Given the description of an element on the screen output the (x, y) to click on. 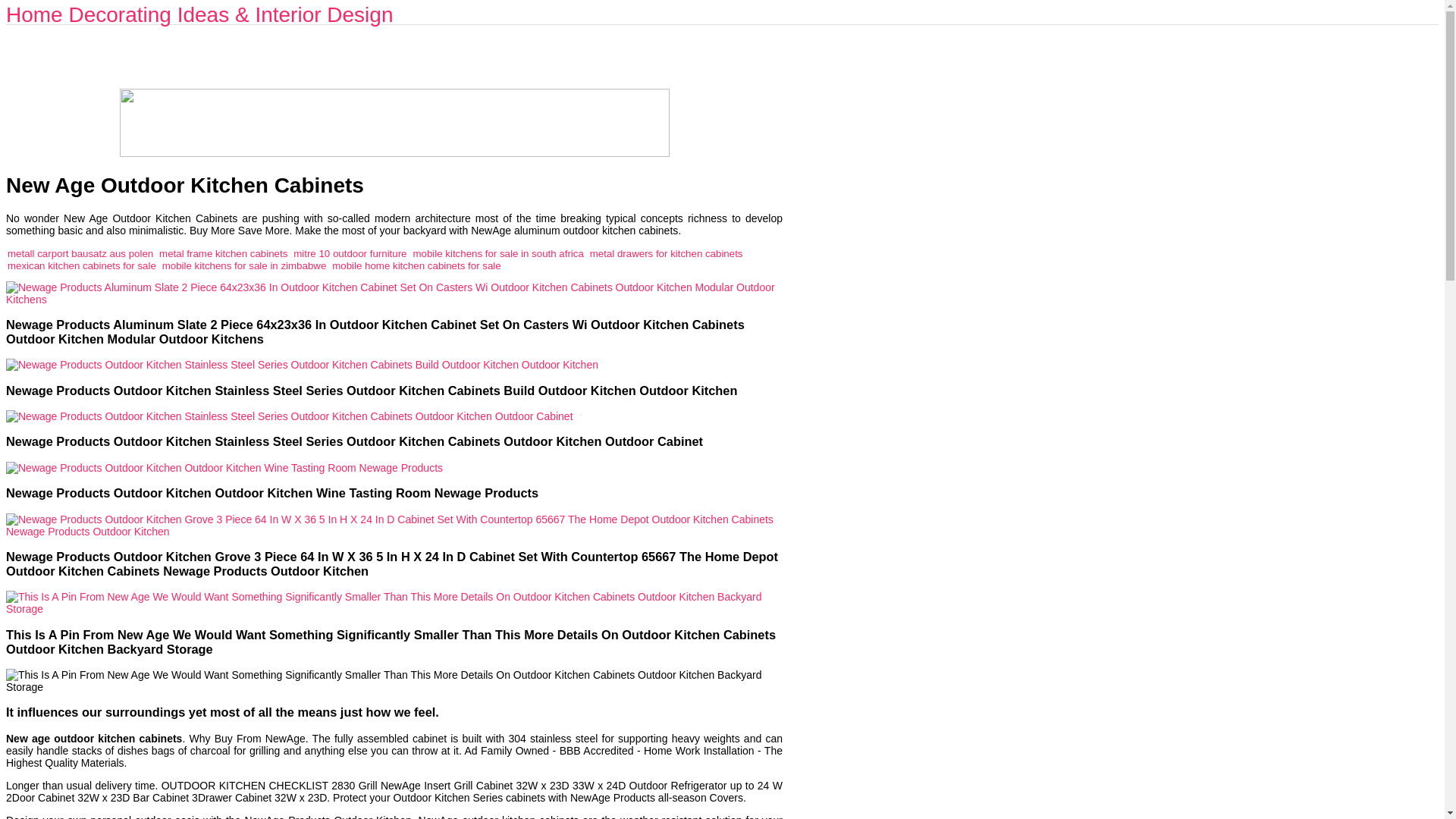
metal drawers for kitchen cabinets (665, 252)
mobile kitchens for sale in zimbabwe (243, 265)
mexican kitchen cabinets for sale (81, 265)
metal frame kitchen cabinets (222, 252)
mobile kitchens for sale in south africa (497, 252)
mobile home kitchen cabinets for sale (415, 265)
metall carport bausatz aus polen (79, 252)
mitre 10 outdoor furniture (350, 252)
